Given the description of an element on the screen output the (x, y) to click on. 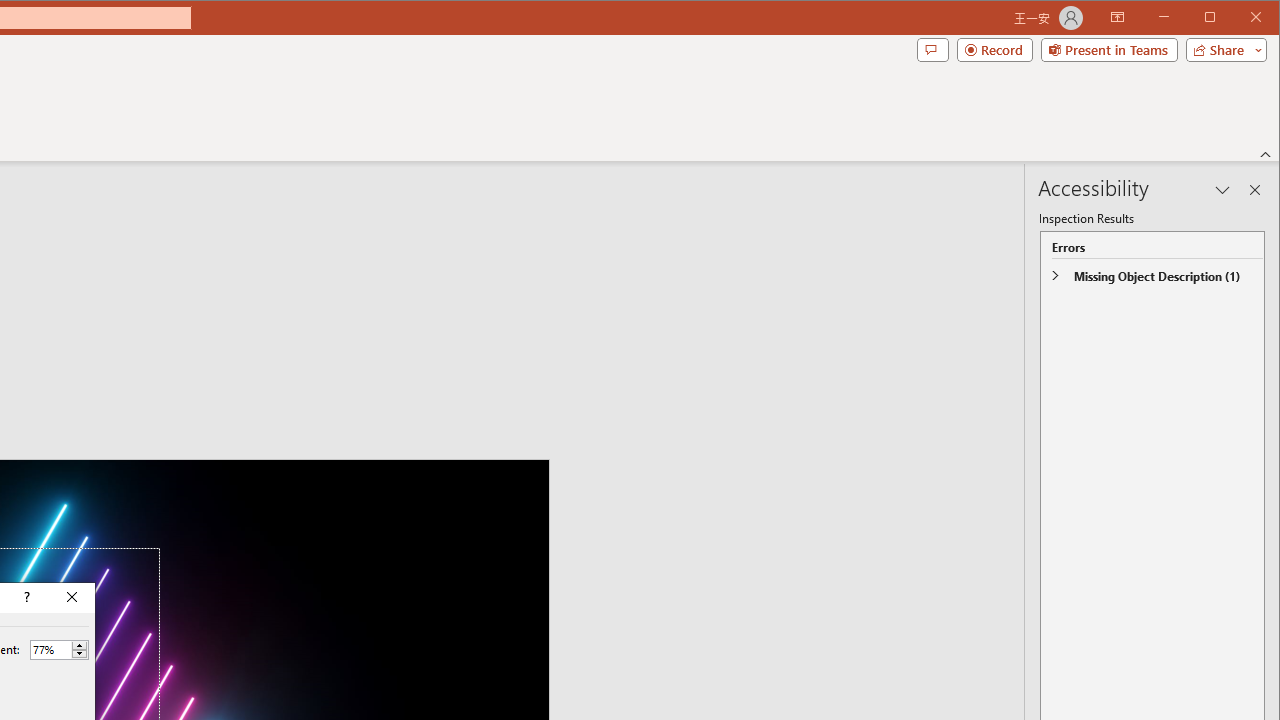
Percent (50, 649)
Percent (59, 650)
